Given the description of an element on the screen output the (x, y) to click on. 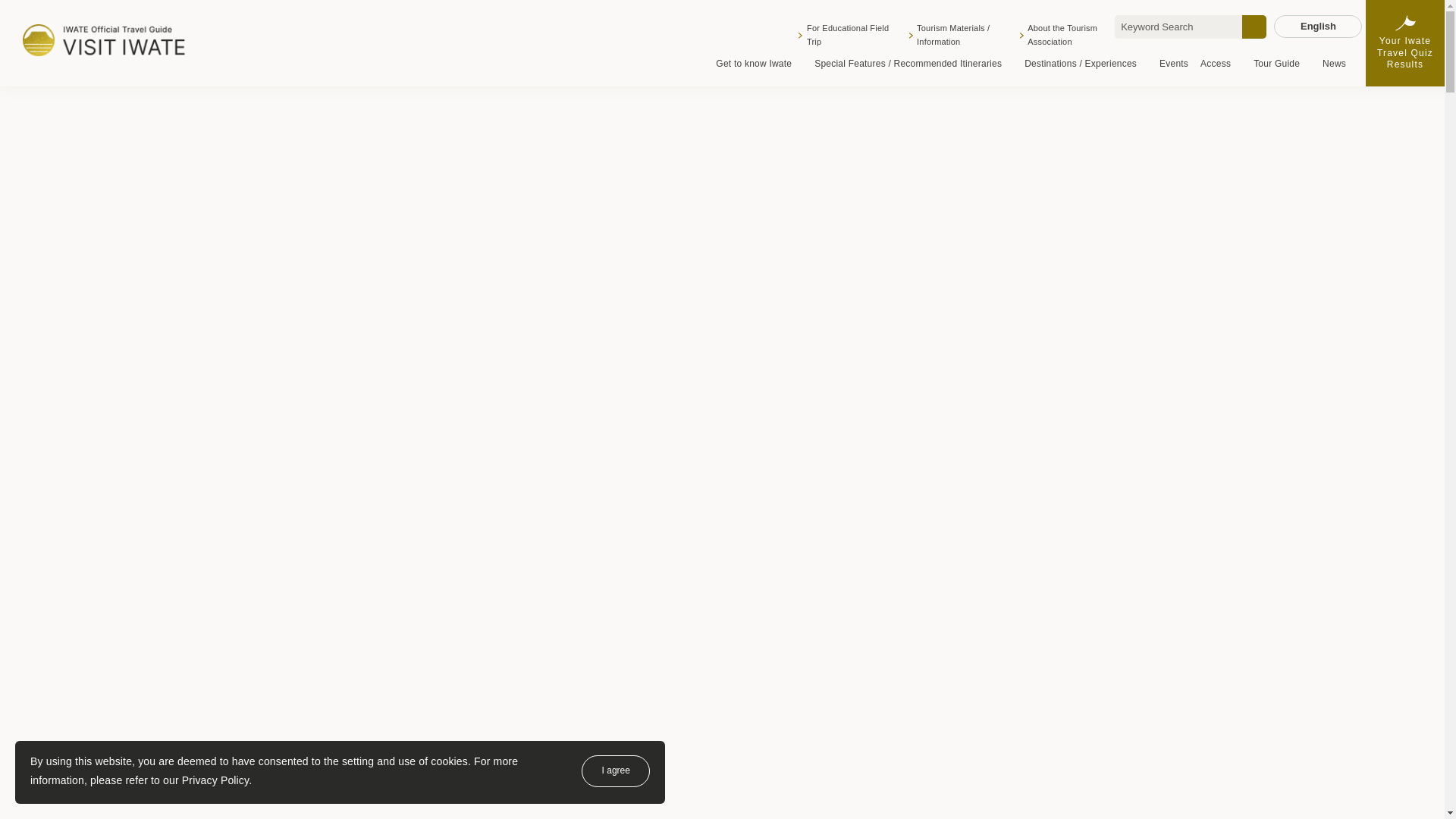
I agree (614, 771)
English (1317, 26)
News (1333, 63)
Get to know Iwate (759, 63)
Events (1173, 63)
Tour Guide (1281, 63)
For Educational Field Trip (846, 35)
Access (1220, 63)
